Given the description of an element on the screen output the (x, y) to click on. 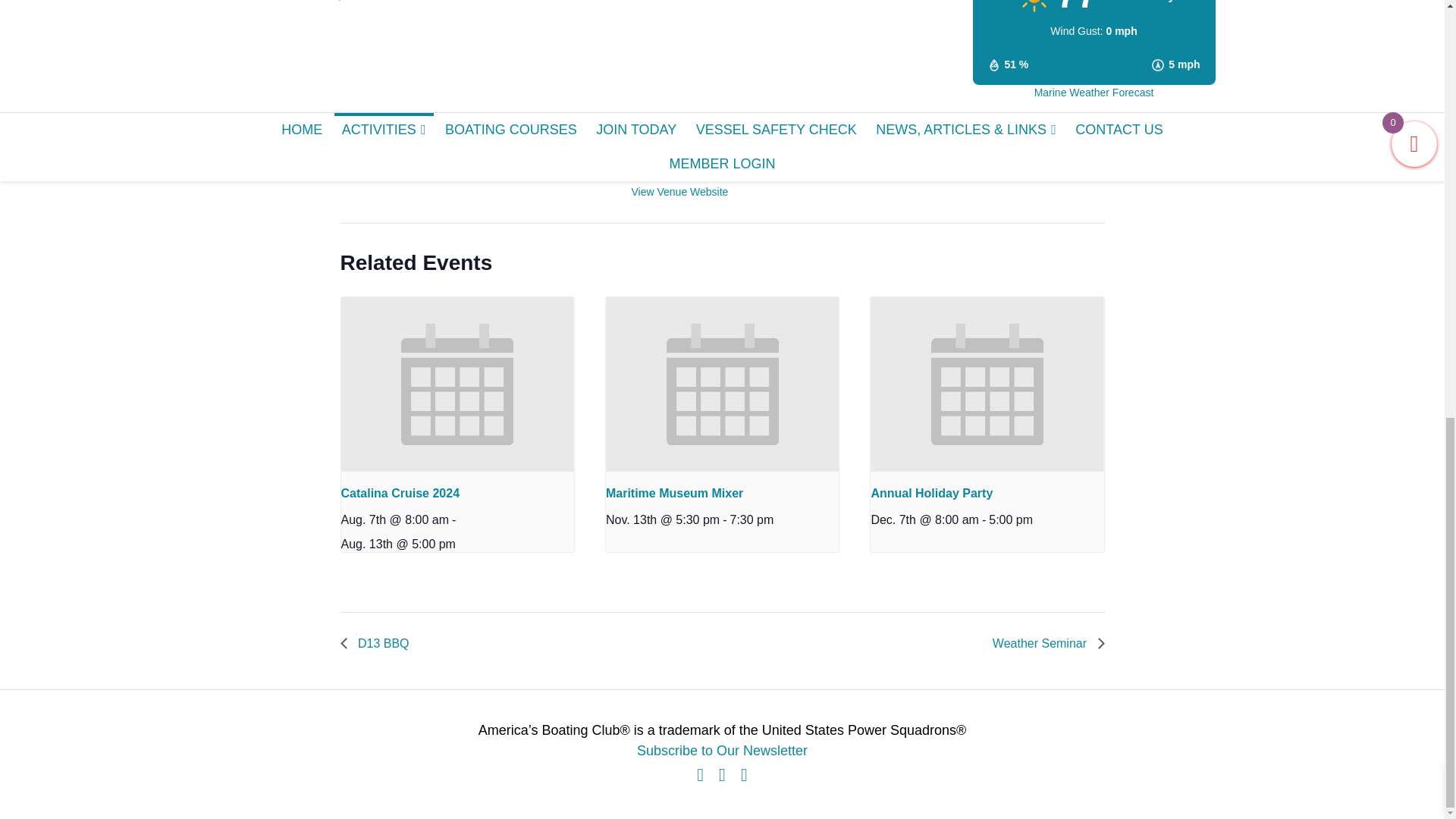
Twitter (722, 774)
2021-11-17 (371, 38)
Facebook (699, 774)
2021-11-17 (403, 86)
TBD (495, 18)
Click to view a Google Map (685, 104)
California (713, 74)
